Given the description of an element on the screen output the (x, y) to click on. 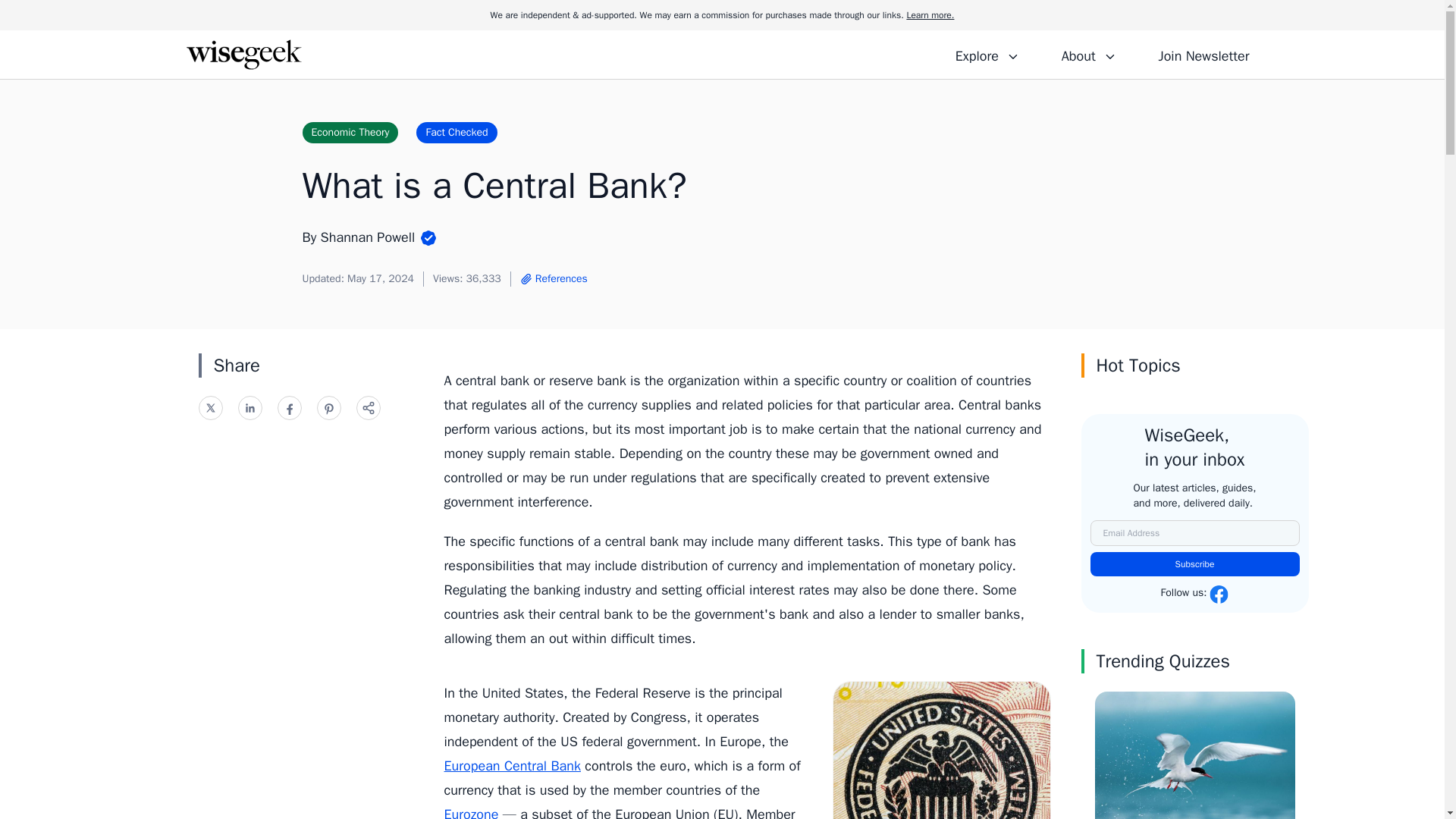
About (1088, 54)
Eurozone (471, 812)
Follow us: (1194, 594)
Subscribe (1195, 564)
Learn more. (929, 15)
European Central Bank (512, 765)
Explore (986, 54)
Fact Checked (456, 132)
Join Newsletter (1202, 54)
References (553, 278)
